Given the description of an element on the screen output the (x, y) to click on. 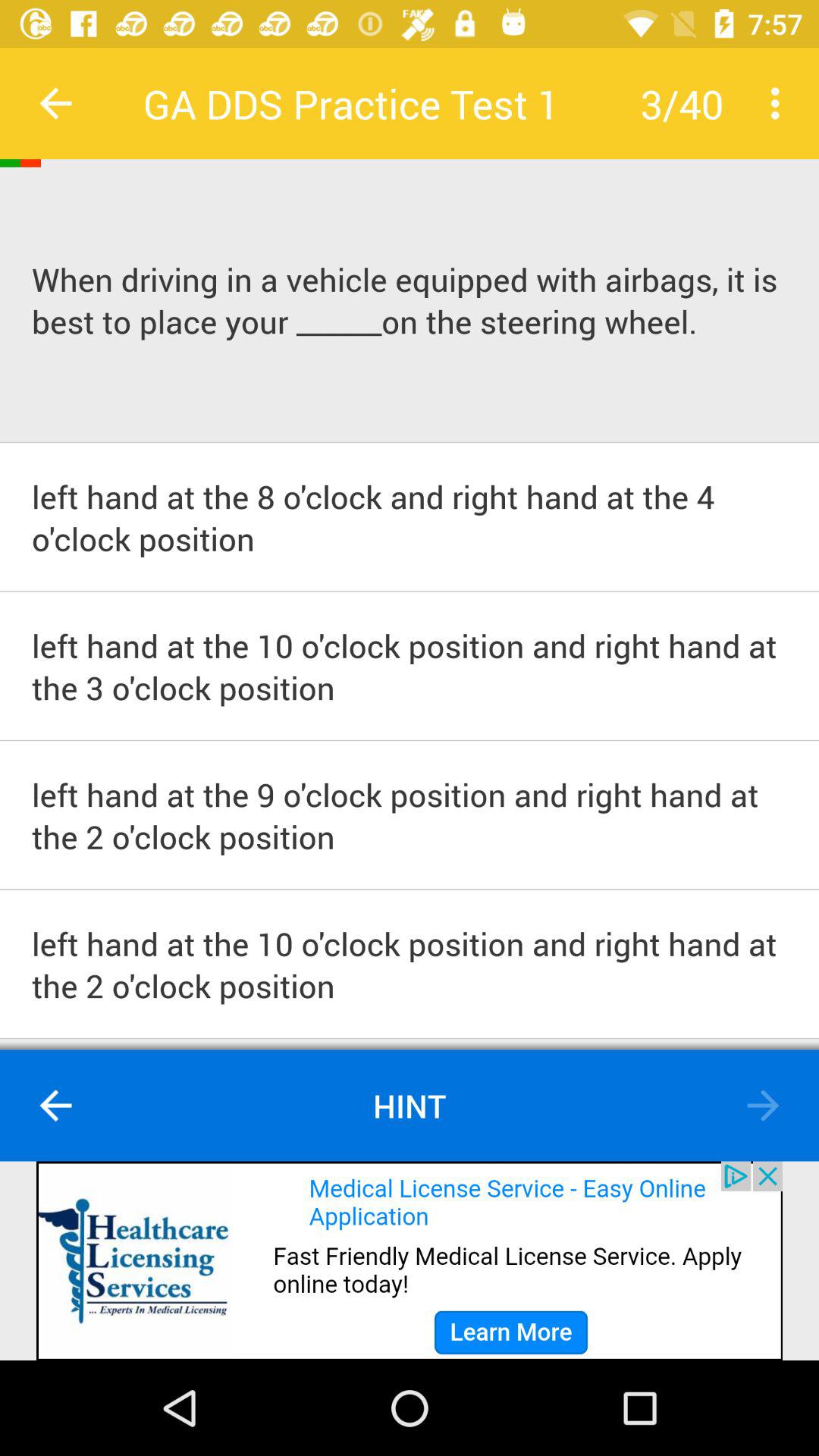
go back (763, 1105)
